Given the description of an element on the screen output the (x, y) to click on. 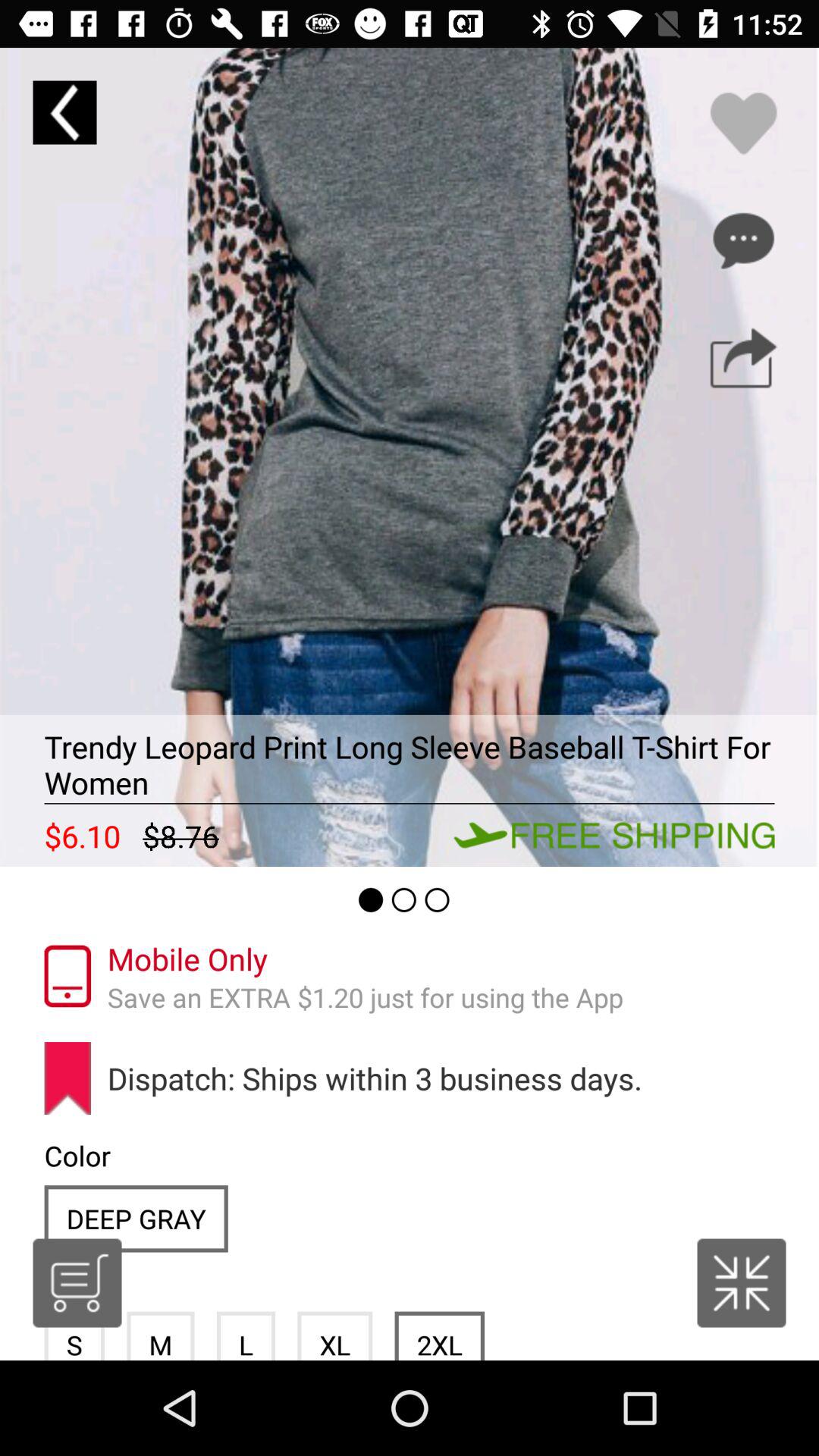
share the product (743, 358)
